Given the description of an element on the screen output the (x, y) to click on. 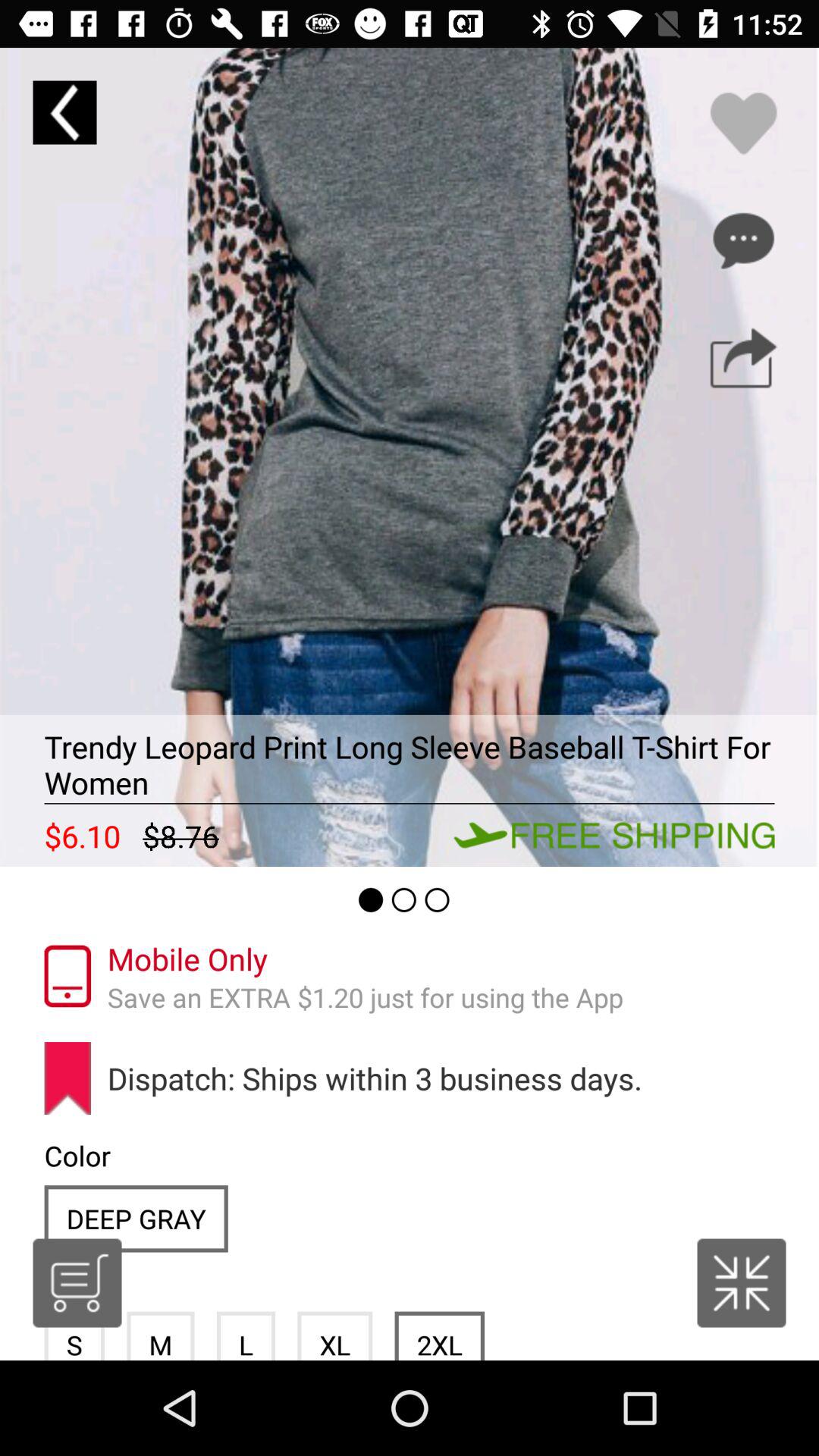
share the product (743, 358)
